Given the description of an element on the screen output the (x, y) to click on. 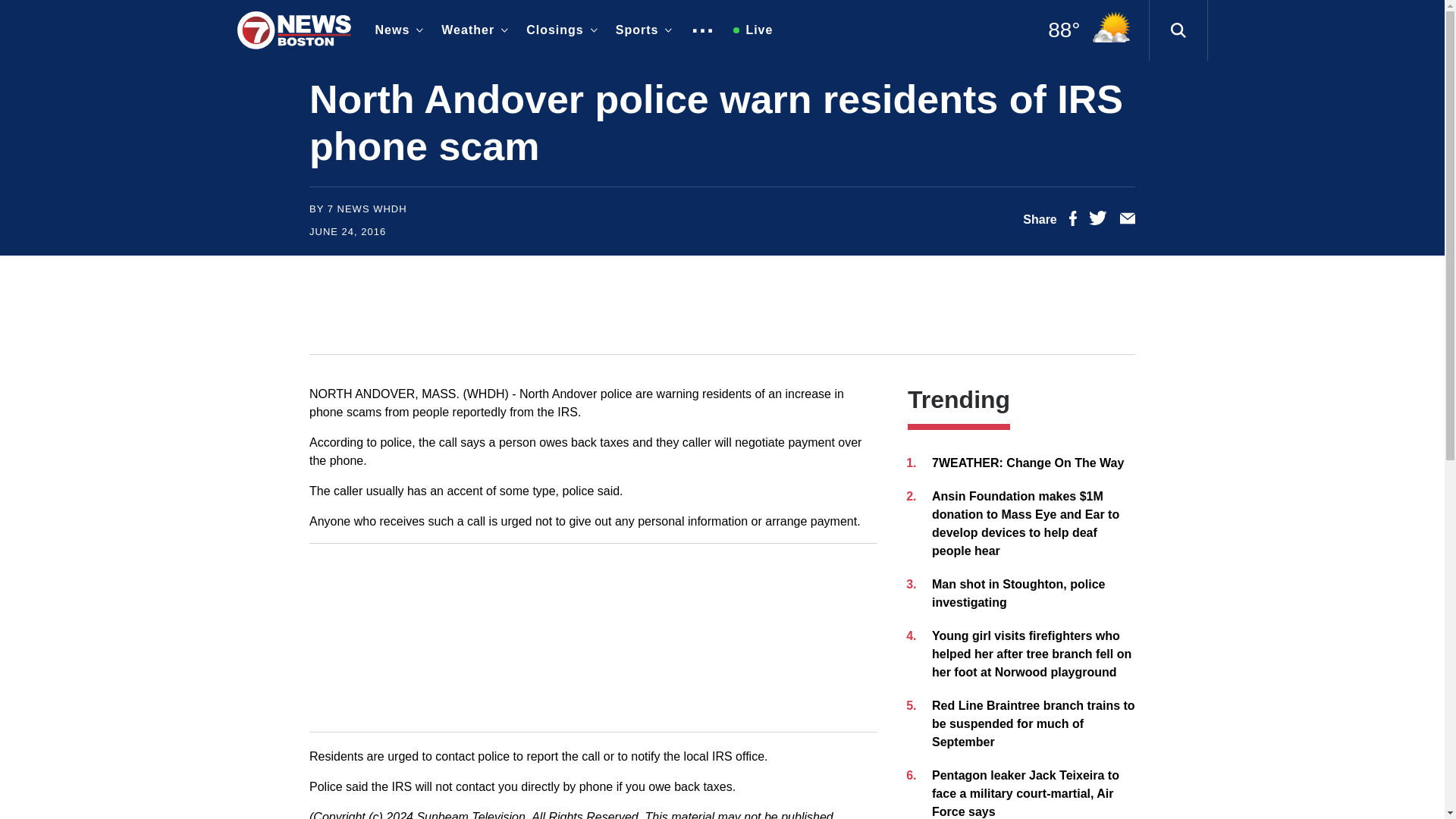
3rd party ad content (721, 305)
Sports (641, 30)
June 24, 2016 (346, 231)
Email (1127, 221)
Closings (558, 30)
News (395, 30)
Weather (471, 30)
Twitter (1098, 221)
Facebook (1072, 221)
3rd party ad content (593, 637)
Posts by 7 News WHDH (367, 208)
